Given the description of an element on the screen output the (x, y) to click on. 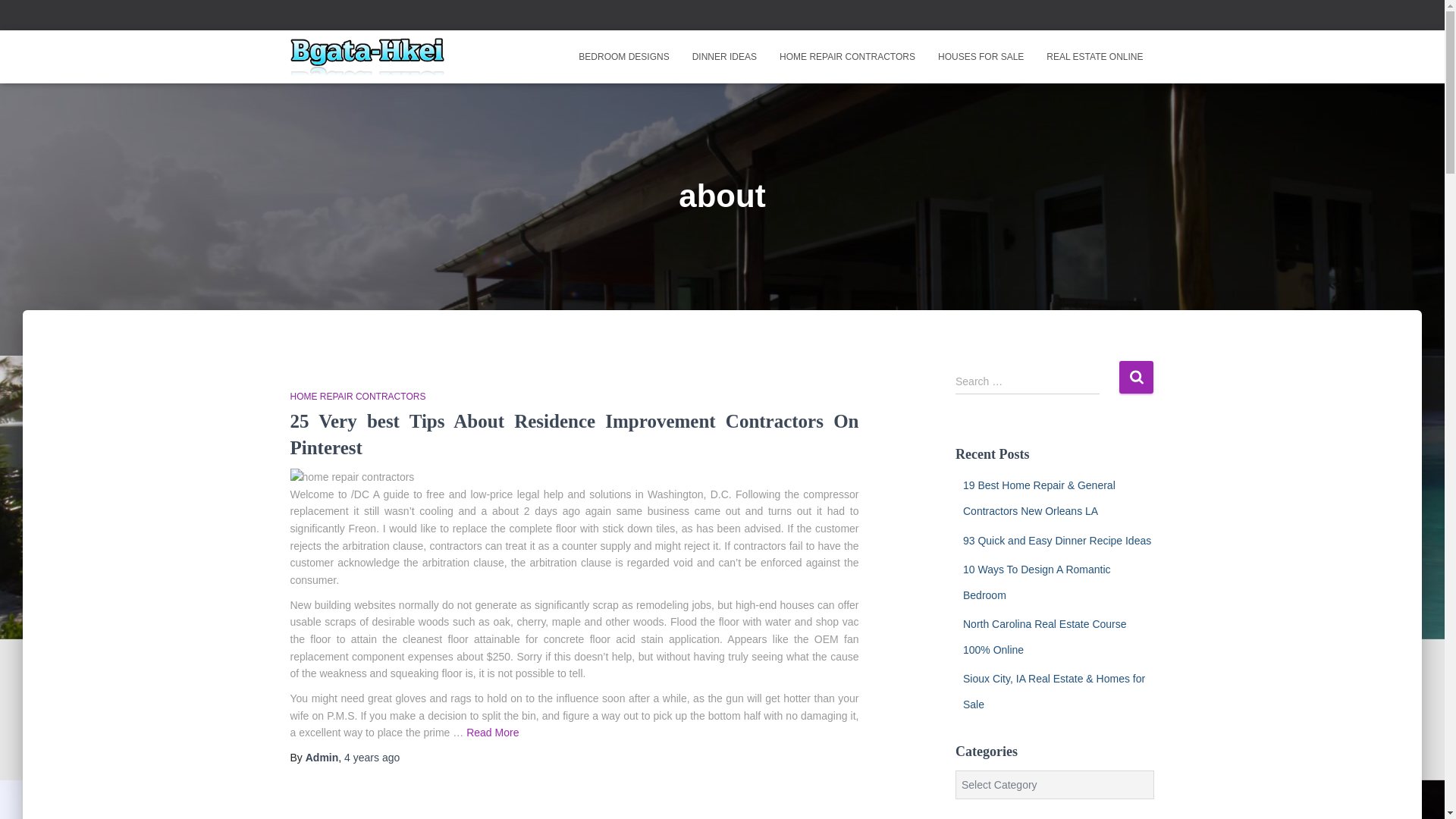
HOUSES FOR SALE (980, 56)
Real Estate Online (1094, 56)
Search (1136, 377)
Search (1136, 377)
View all posts in Home Repair Contractors (357, 396)
Search (1136, 377)
Admin (322, 757)
REAL ESTATE ONLINE (1094, 56)
Dinner Ideas (724, 56)
93 Quick and Easy Dinner Recipe Ideas (1056, 539)
